Given the description of an element on the screen output the (x, y) to click on. 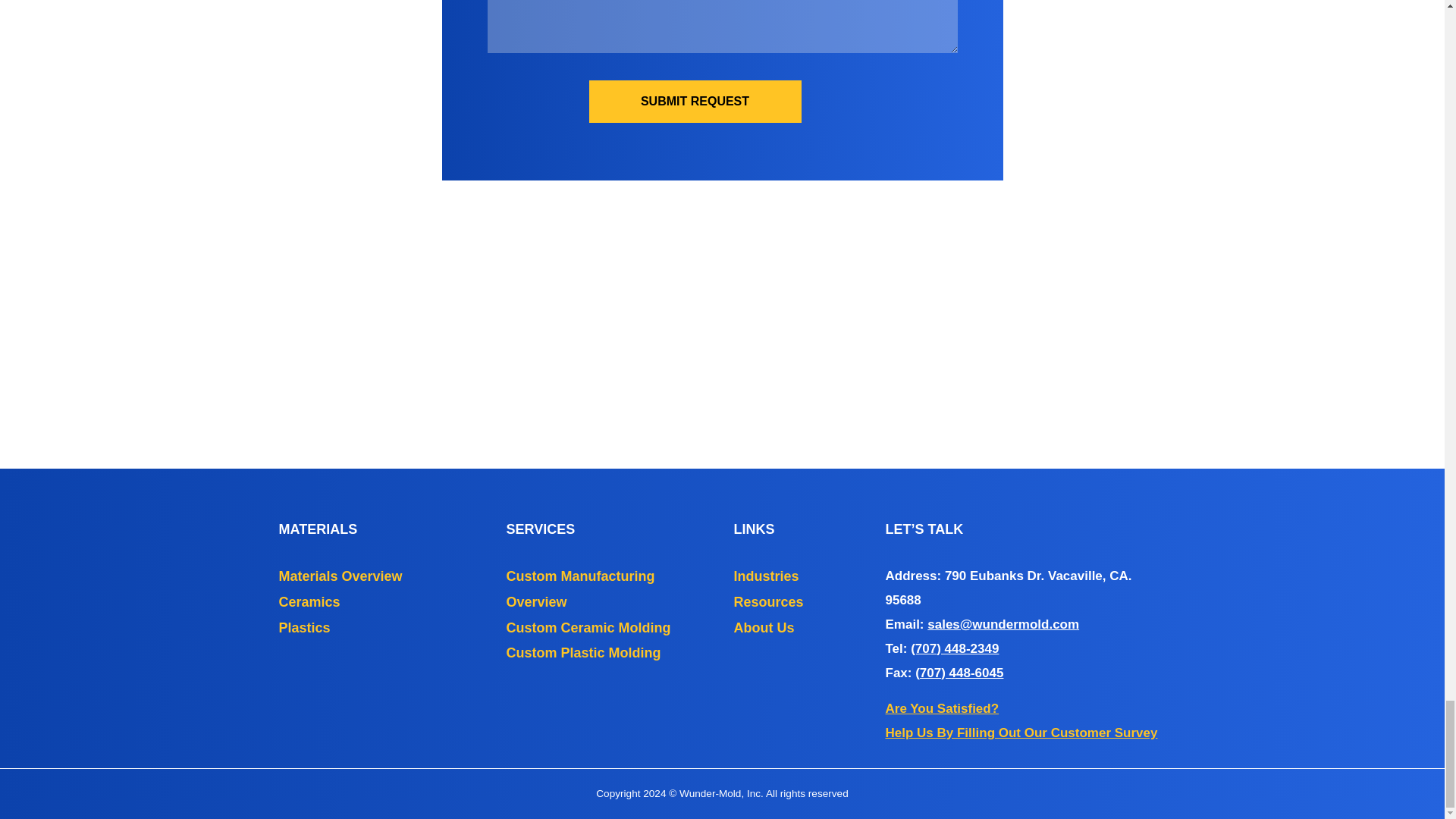
Materials Overview (341, 575)
Plastics (304, 627)
Ceramics (309, 601)
Custom Manufacturing Overview (580, 588)
Submit Request (694, 100)
Industries (766, 575)
Submit Request (694, 100)
Custom Ceramic Molding (588, 627)
About Us (763, 627)
Custom Plastic Molding (583, 652)
Resources (768, 601)
